Given the description of an element on the screen output the (x, y) to click on. 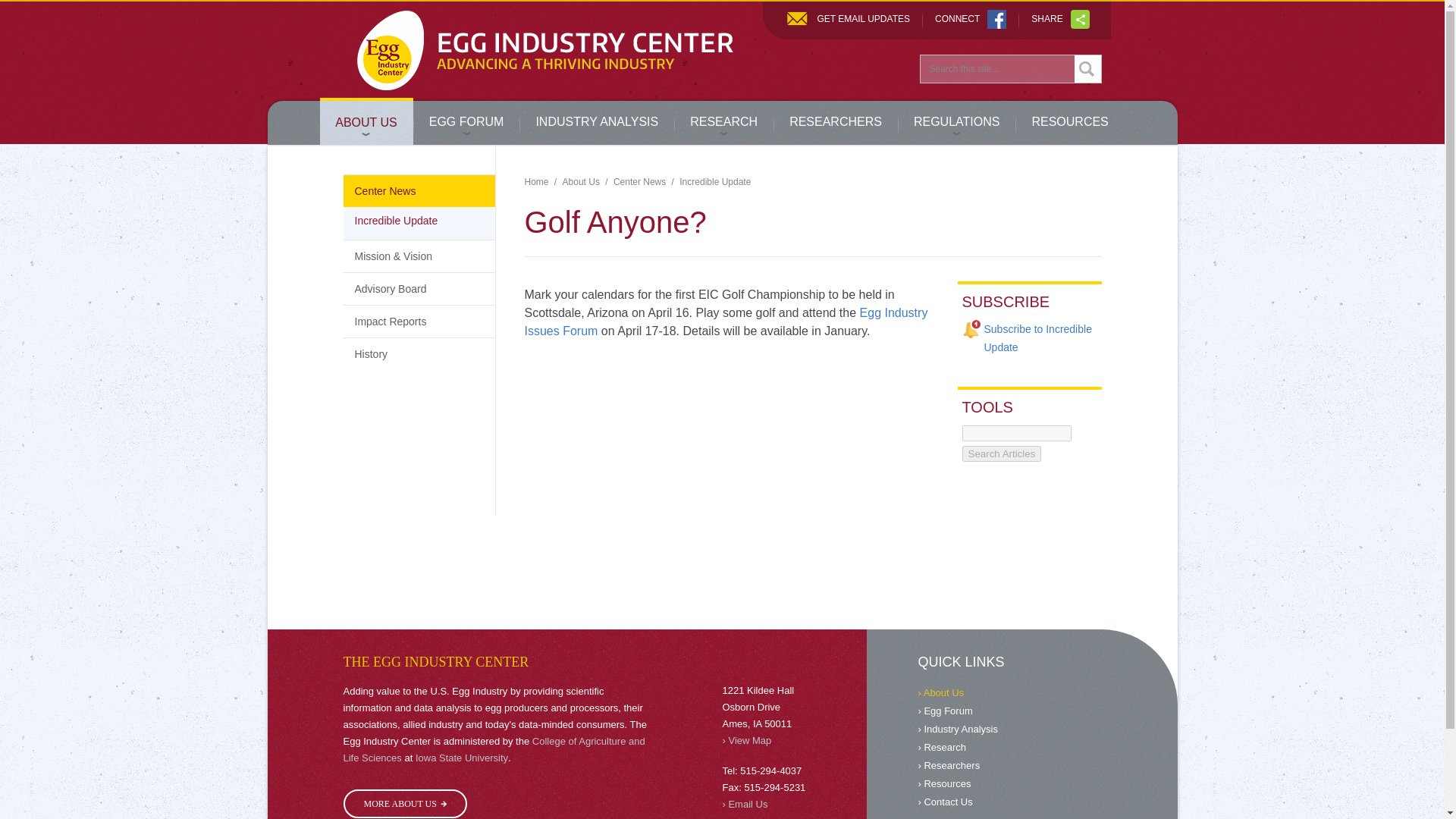
About Us (580, 181)
Impact Reports (418, 320)
Home (957, 120)
Search Articles (536, 181)
RESEARCHERS (1000, 453)
Advisory Board (836, 120)
